Given the description of an element on the screen output the (x, y) to click on. 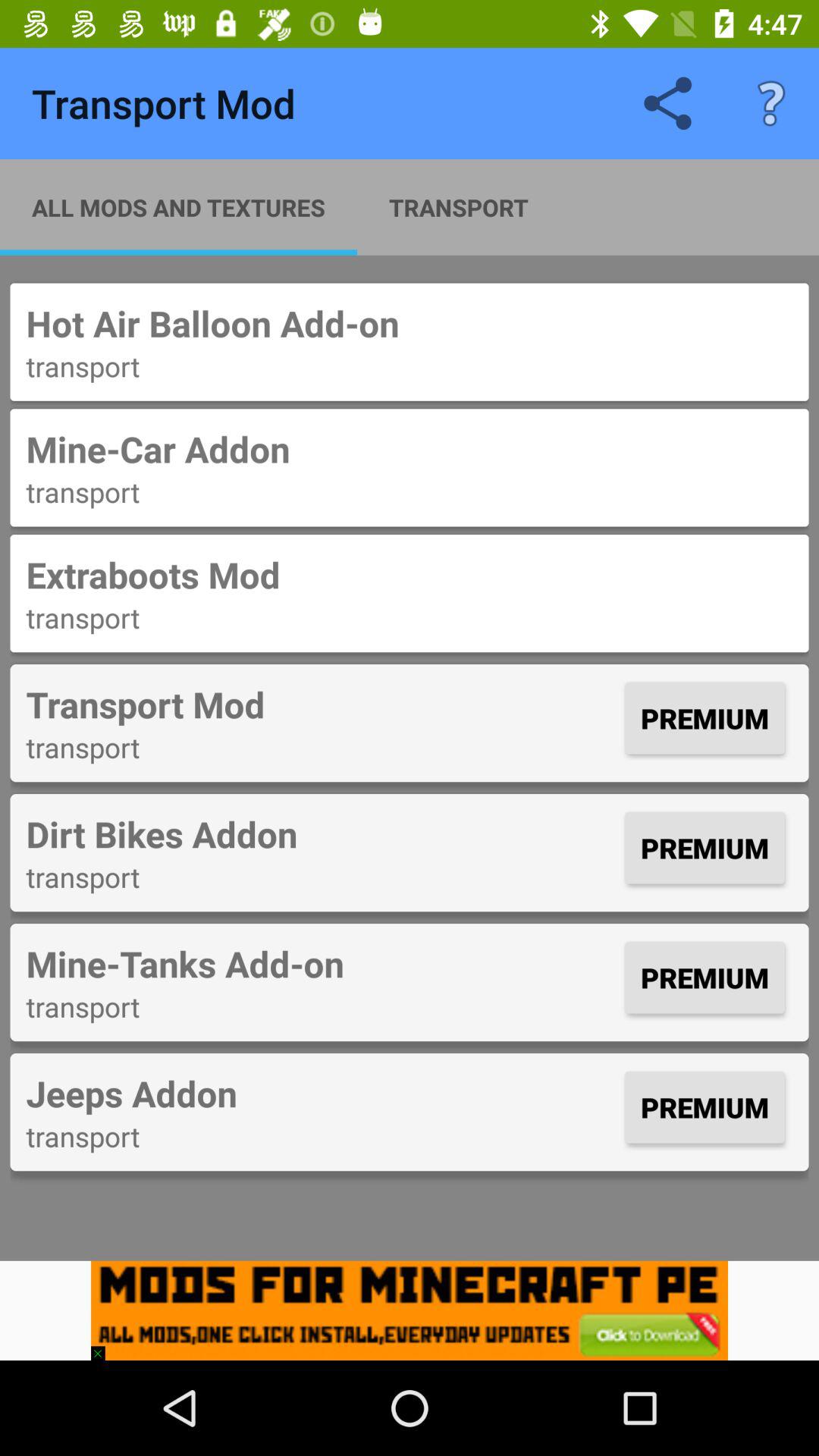
turn off the mine-car addon (409, 448)
